Given the description of an element on the screen output the (x, y) to click on. 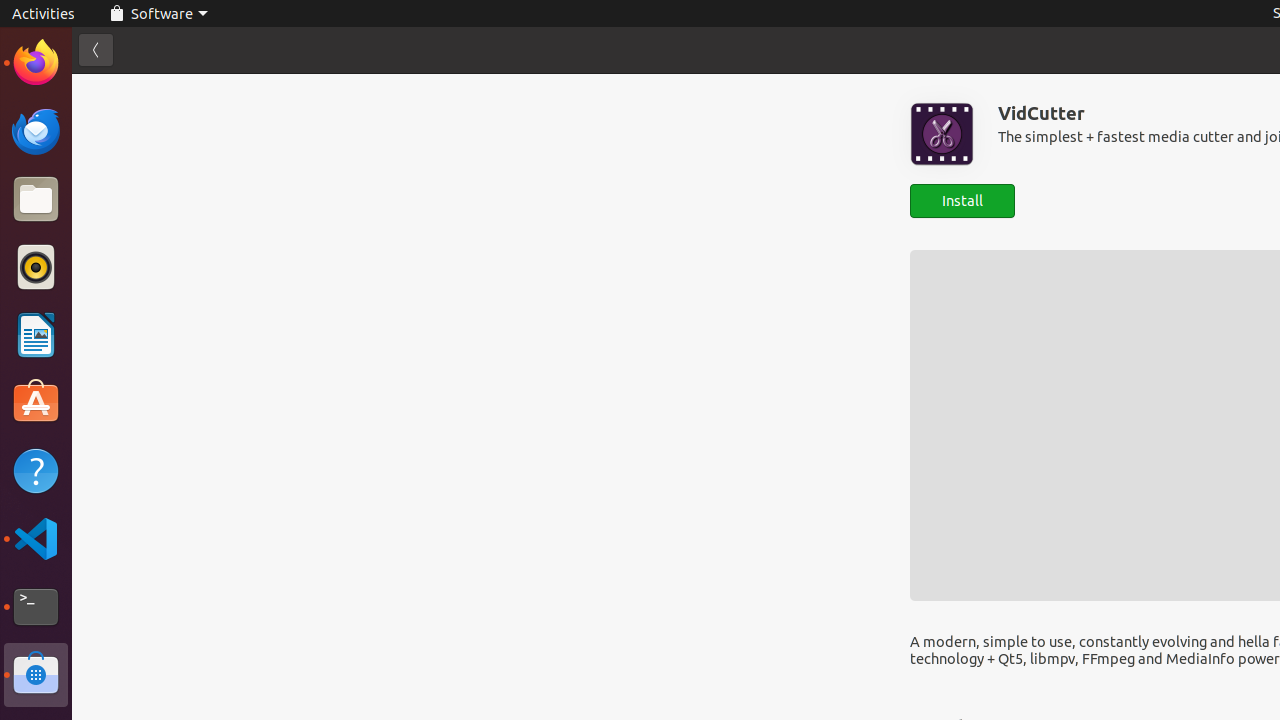
Terminal Element type: push-button (36, 607)
Install Element type: push-button (962, 200)
Software Element type: menu (158, 13)
Firefox Web Browser Element type: push-button (36, 63)
luyi1 Element type: label (133, 89)
